Given the description of an element on the screen output the (x, y) to click on. 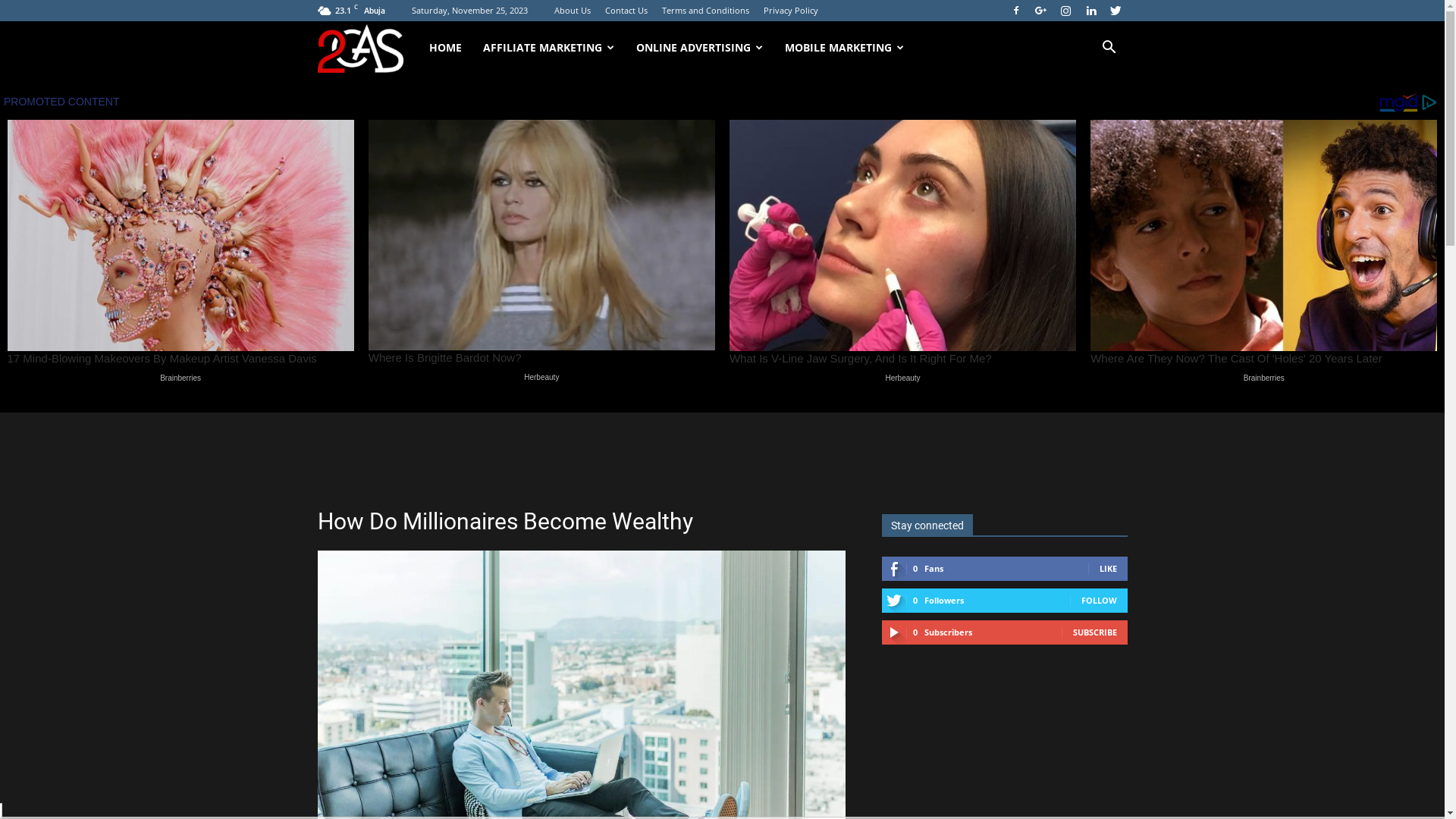
Search Element type: text (1083, 117)
HOME Element type: text (445, 47)
Terms and Conditions Element type: text (704, 9)
Facebook Element type: hover (1015, 10)
MOBILE MARKETING Element type: text (844, 47)
LIKE Element type: text (1108, 568)
ONLINE ADVERTISING Element type: text (699, 47)
AFFILIATE MARKETING Element type: text (548, 47)
24x7onlinecas Element type: text (366, 48)
Instagram Element type: hover (1065, 10)
SUBSCRIBE Element type: text (1094, 631)
About Us Element type: text (571, 9)
Google+ Element type: hover (1040, 10)
Twitter Element type: hover (1115, 10)
Privacy Policy Element type: text (789, 9)
Contact Us Element type: text (626, 9)
FOLLOW Element type: text (1099, 599)
Linkedin Element type: hover (1090, 10)
